Given the description of an element on the screen output the (x, y) to click on. 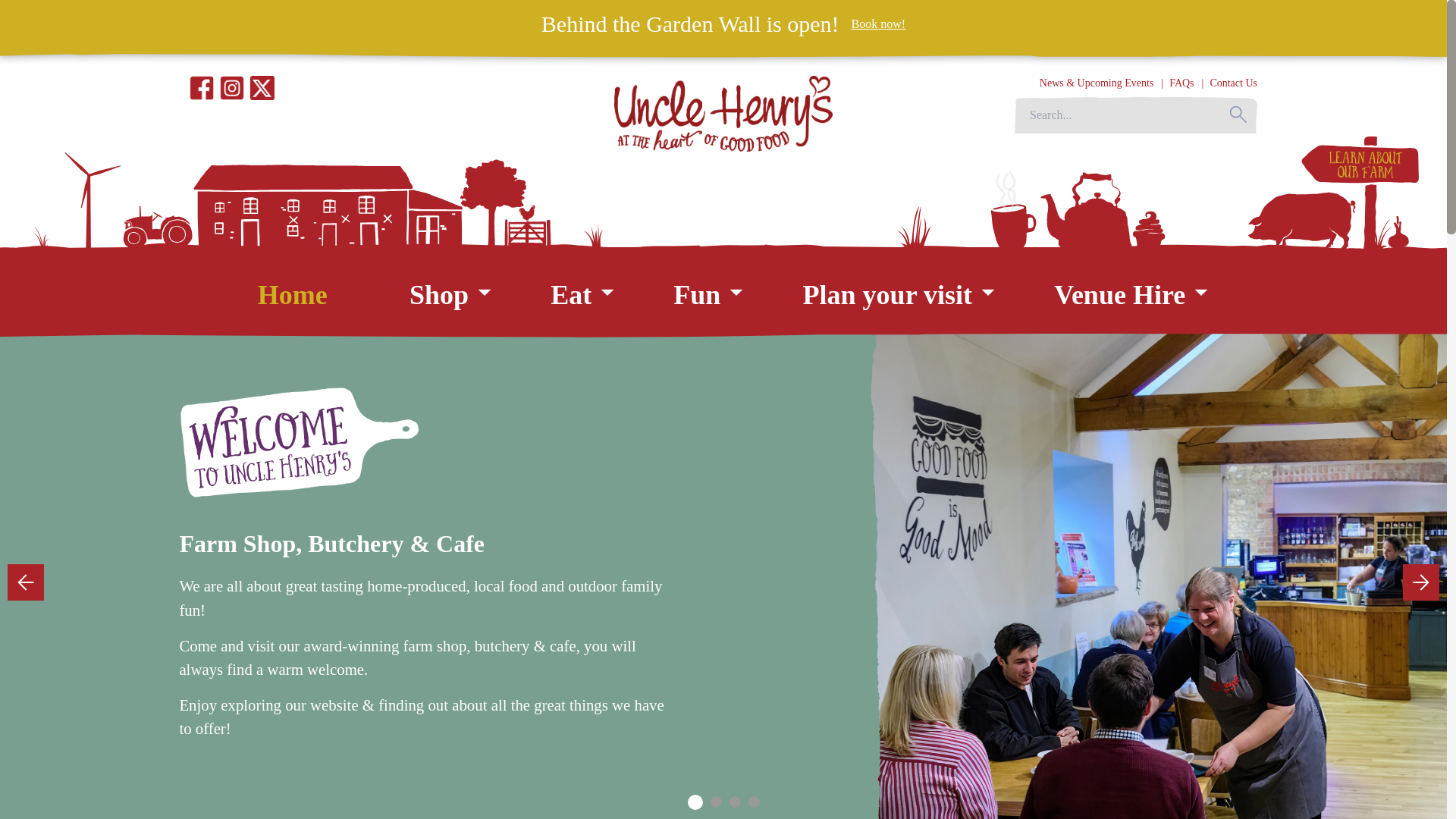
FAQs (1181, 82)
Home (292, 13)
Book now! (878, 24)
Follow us on Facebook (201, 87)
Fun (696, 295)
Plan your visit (887, 295)
Venue Hire (1119, 295)
Eat (570, 295)
Follow us on Twitter (262, 87)
Shop (438, 295)
Home (292, 295)
Contact Us (1233, 82)
Follow us on Instagram (722, 19)
